Given the description of an element on the screen output the (x, y) to click on. 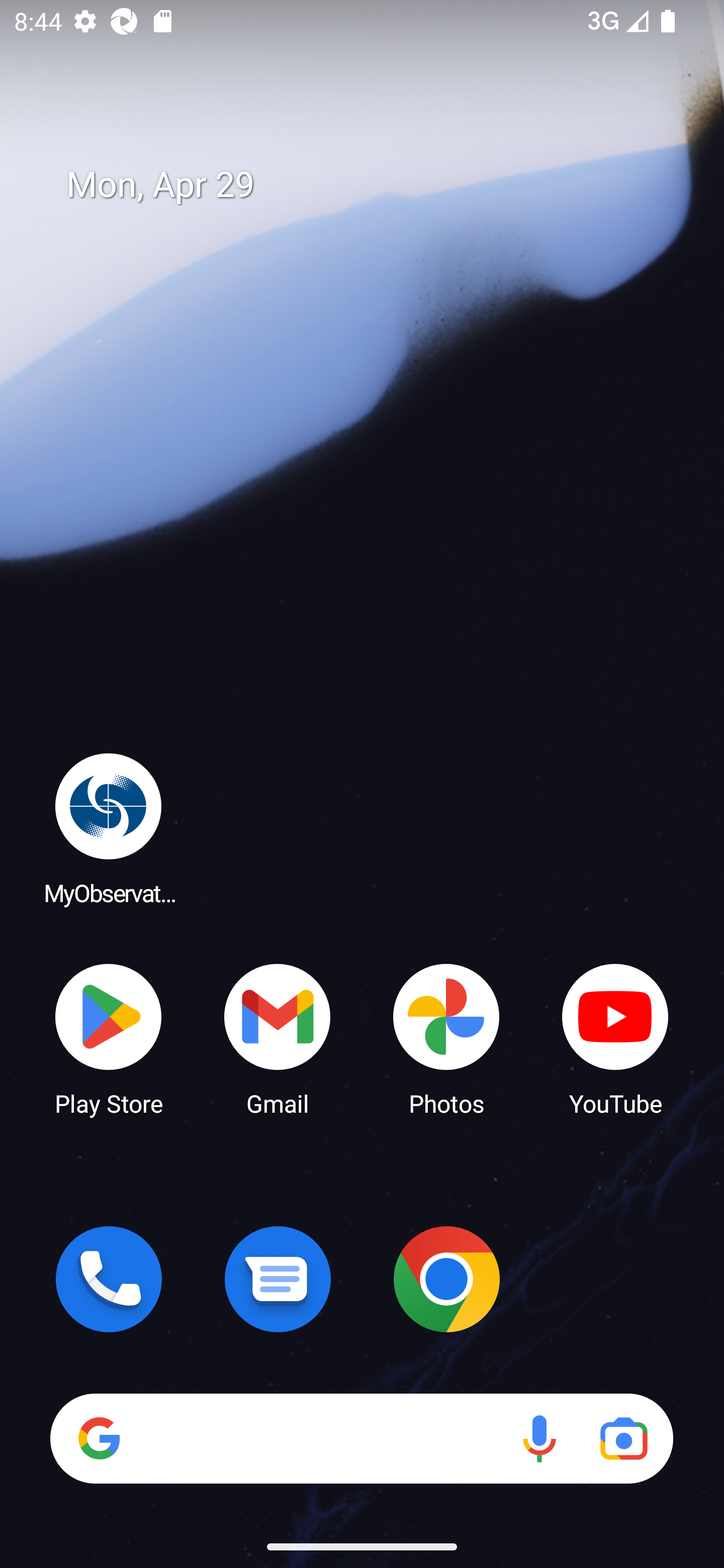
Mon, Apr 29 (375, 184)
MyObservatory (108, 828)
Play Store (108, 1038)
Gmail (277, 1038)
Photos (445, 1038)
YouTube (615, 1038)
Phone (108, 1279)
Messages (277, 1279)
Chrome (446, 1279)
Voice search (539, 1438)
Google Lens (623, 1438)
